Given the description of an element on the screen output the (x, y) to click on. 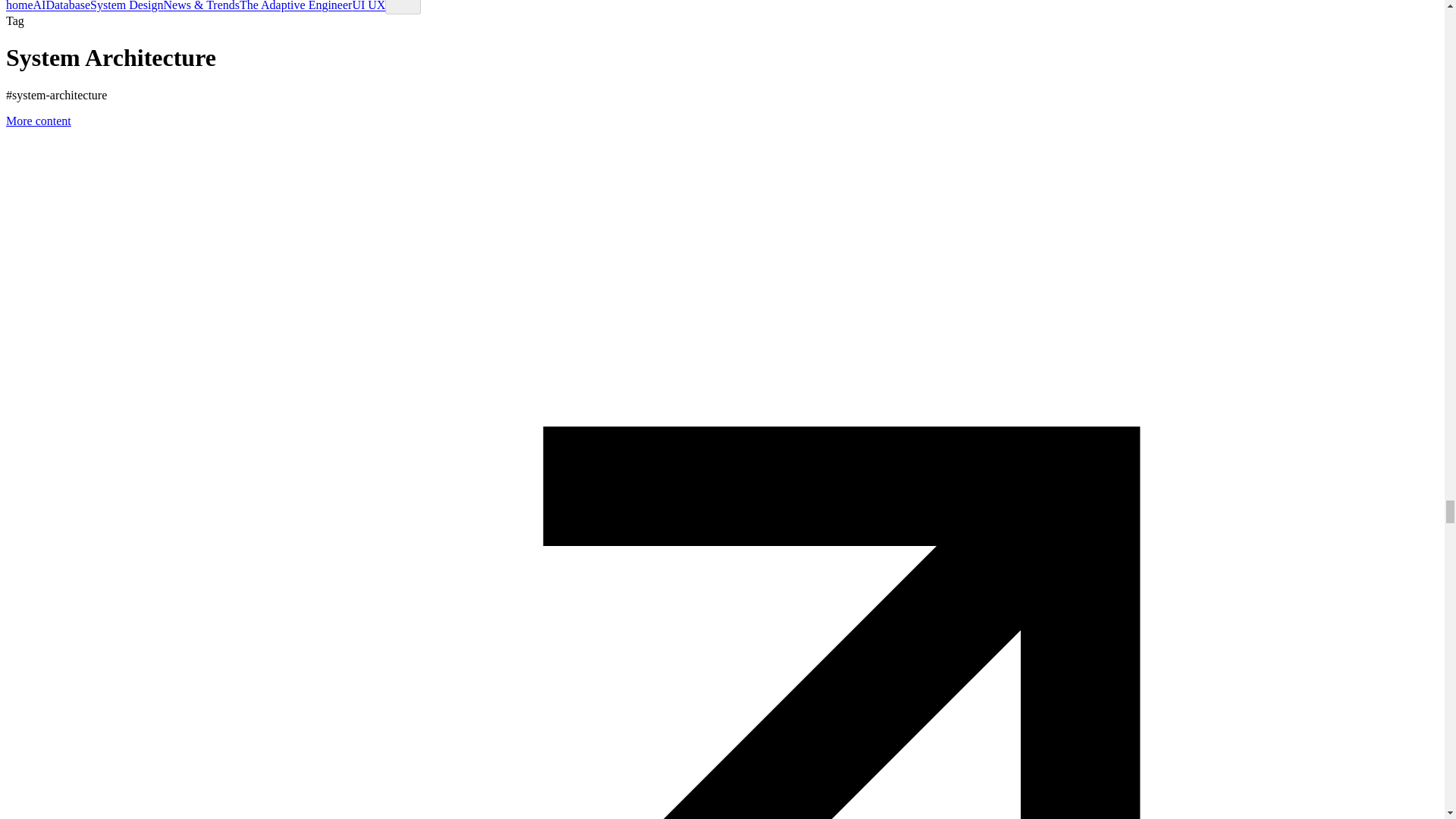
Database (67, 6)
AI (39, 6)
UI UX (368, 6)
More (402, 6)
home (19, 6)
The Adaptive Engineer (296, 6)
System Design (126, 6)
